Given the description of an element on the screen output the (x, y) to click on. 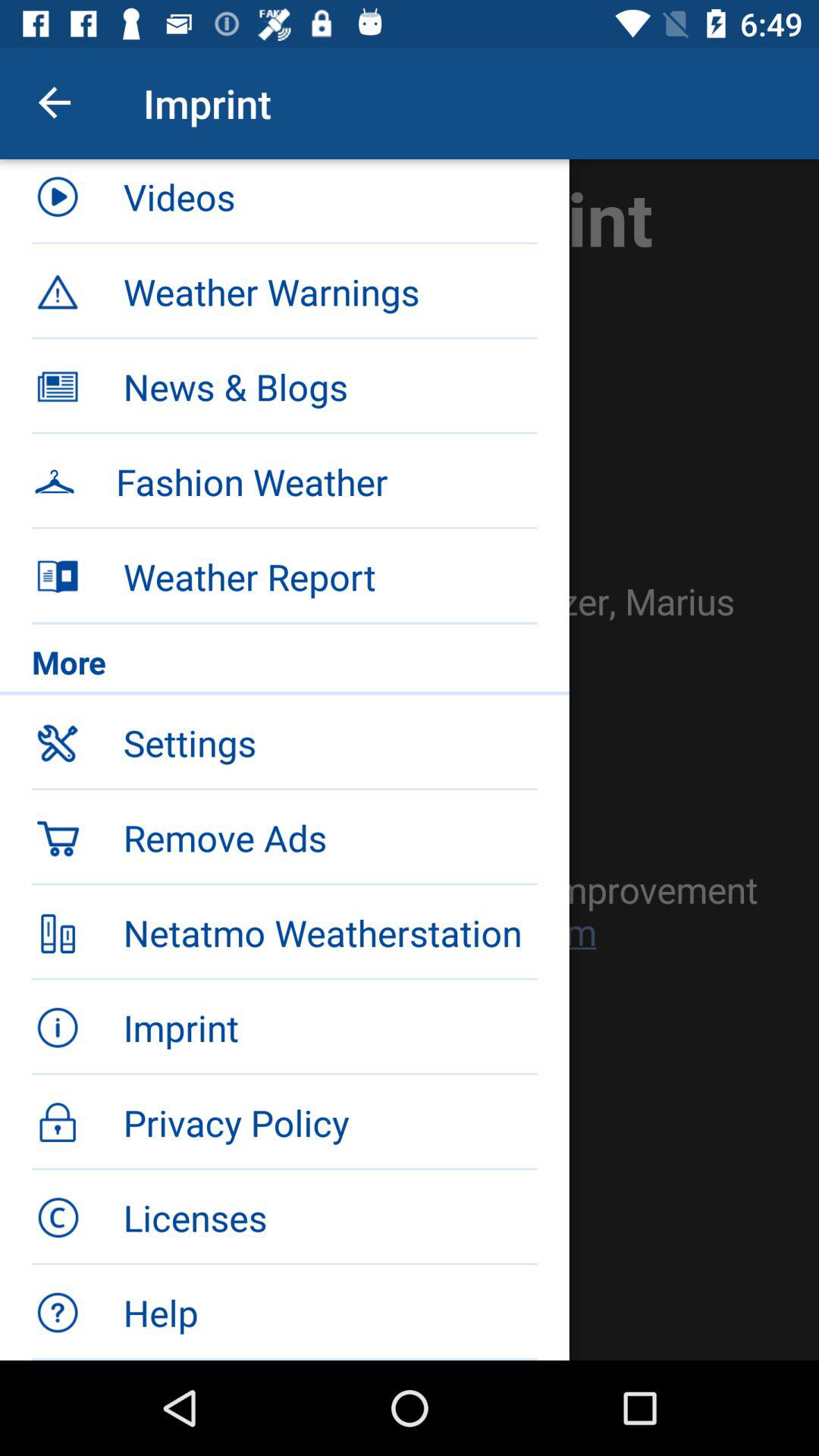
choose the item below videos item (284, 289)
